Given the description of an element on the screen output the (x, y) to click on. 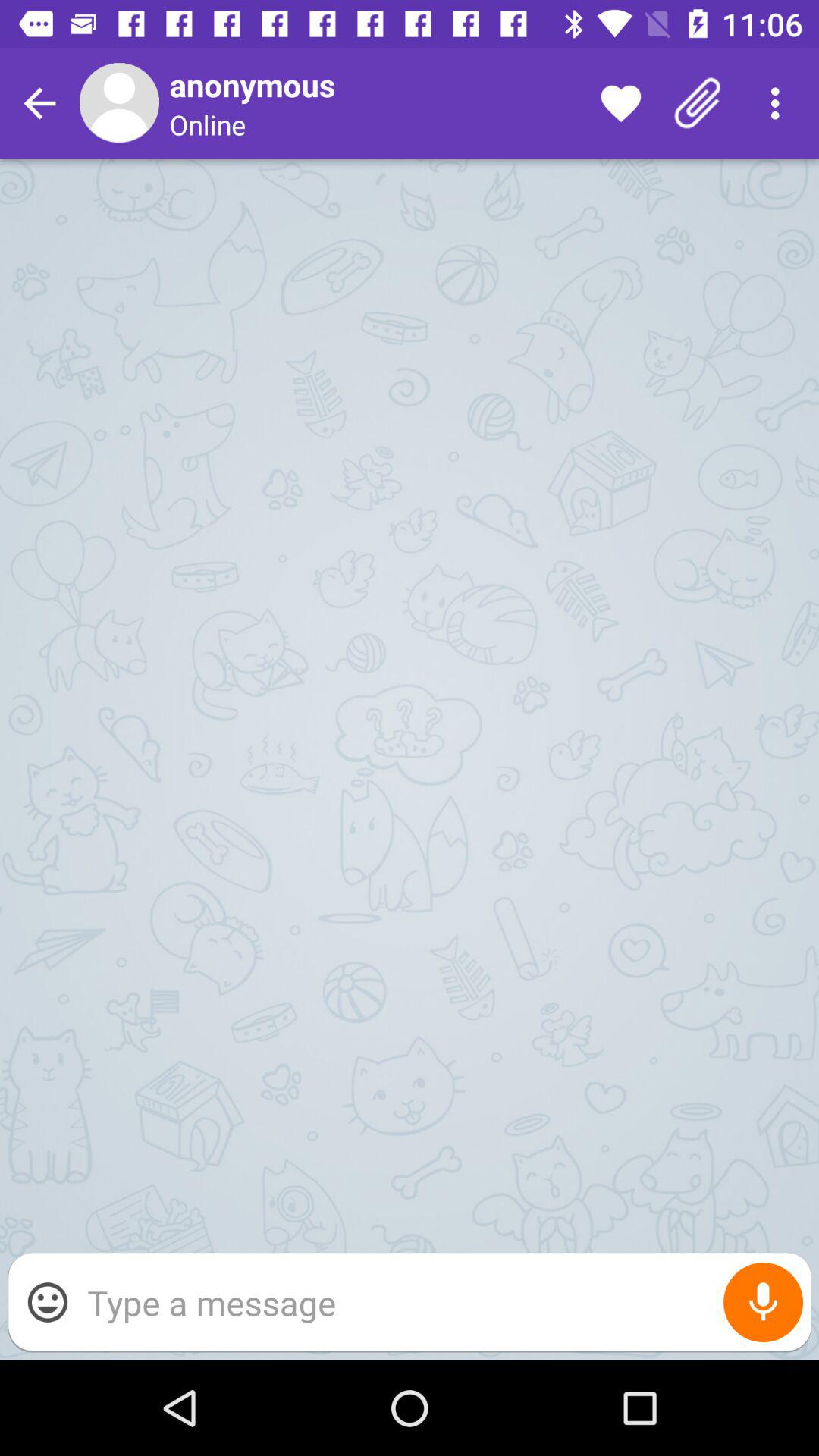
click the icon to the right of anonymous item (620, 103)
